Given the description of an element on the screen output the (x, y) to click on. 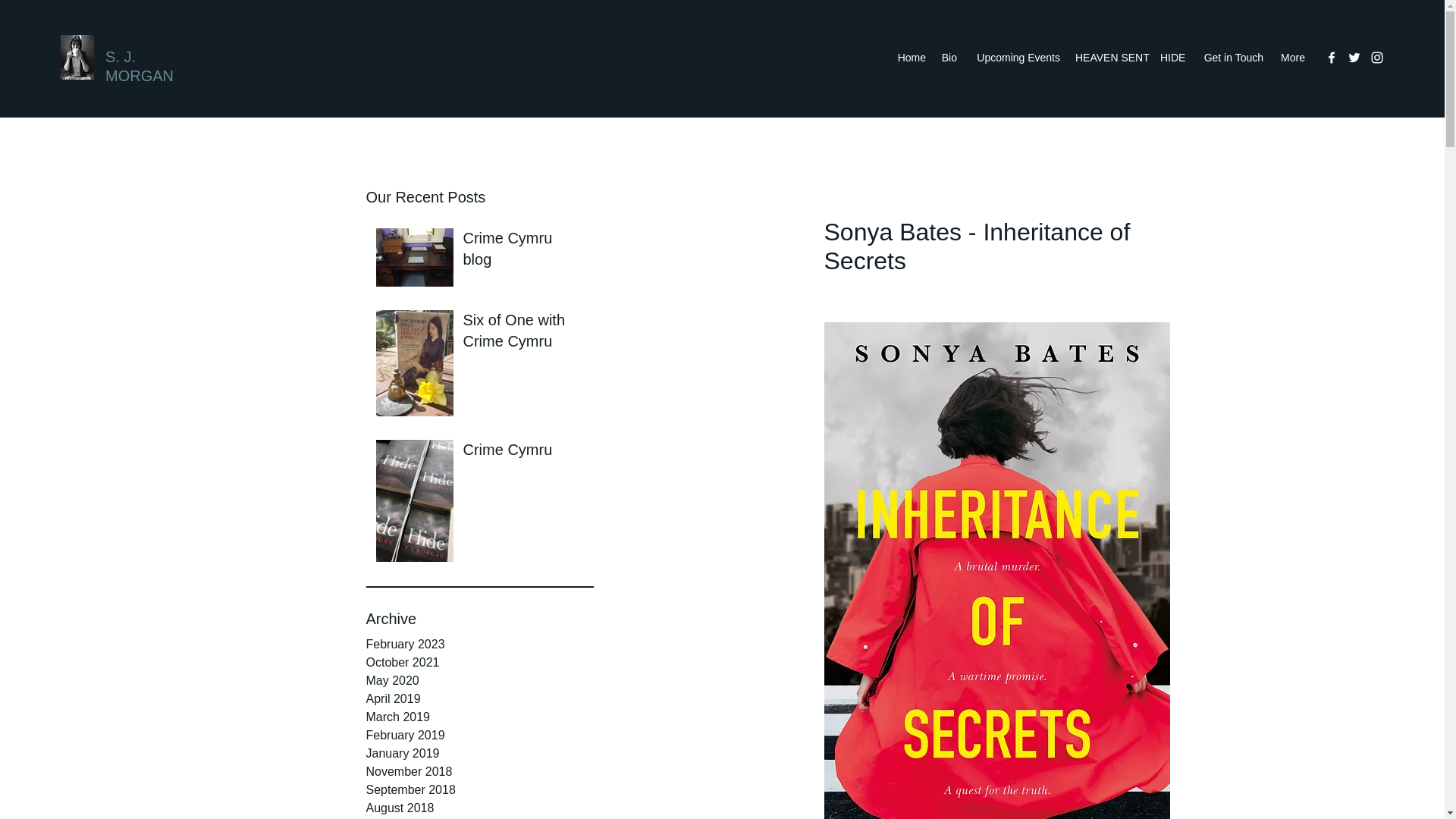
April 2019 (478, 699)
Get in Touch (1231, 56)
Crime Cymru (523, 452)
February 2023 (478, 644)
August 2018 (478, 808)
September 2018 (478, 790)
November 2018 (478, 771)
March 2019 (478, 717)
May 2020 (478, 680)
January 2019 (478, 753)
October 2021 (478, 662)
Six of One with Crime Cymru (523, 333)
HIDE (1172, 56)
February 2019 (478, 735)
